Given the description of an element on the screen output the (x, y) to click on. 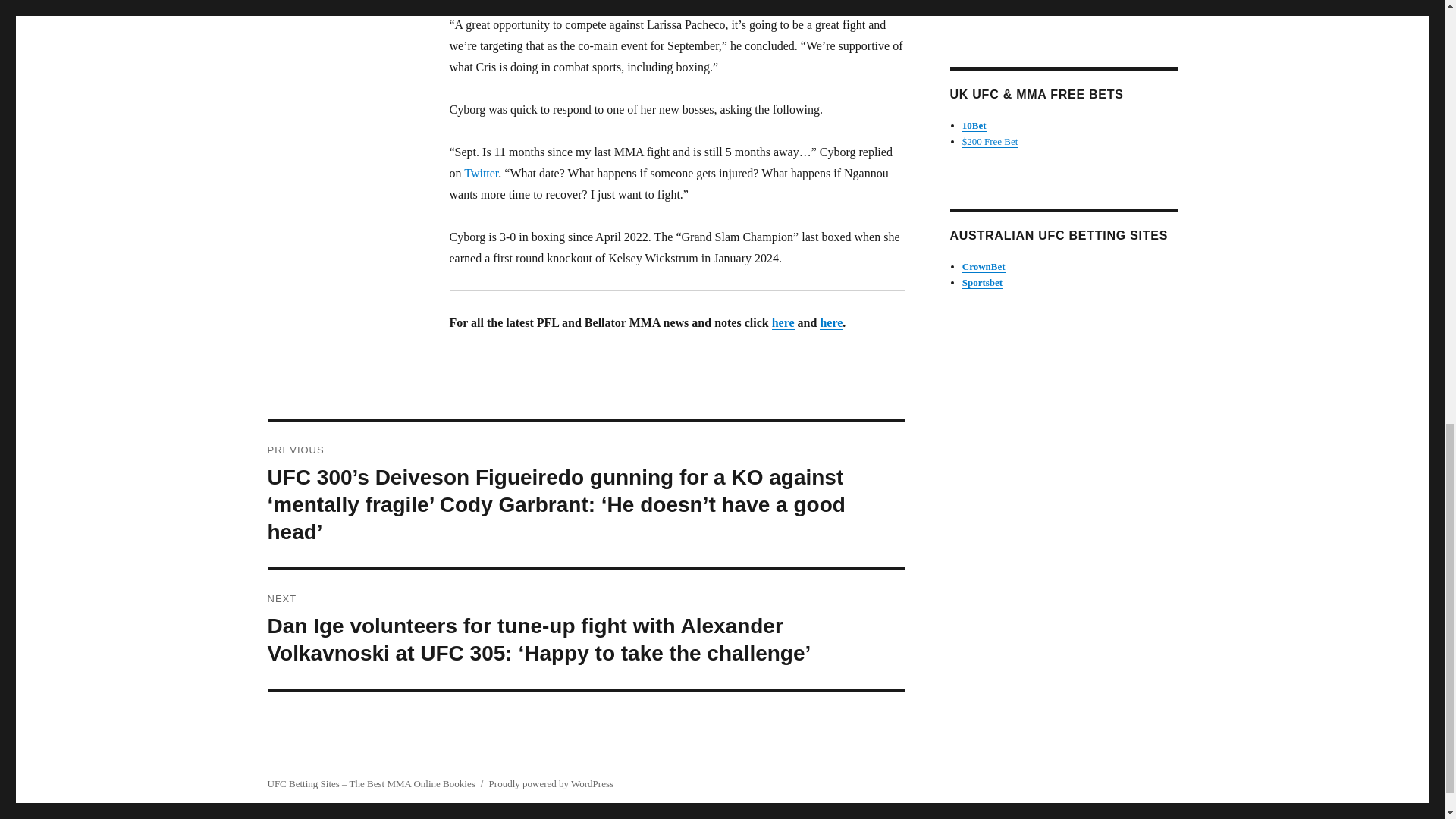
Twitter (480, 173)
10Bet (974, 125)
CrownBet (984, 266)
here (782, 322)
here (831, 322)
Sportsbet (982, 282)
